Given the description of an element on the screen output the (x, y) to click on. 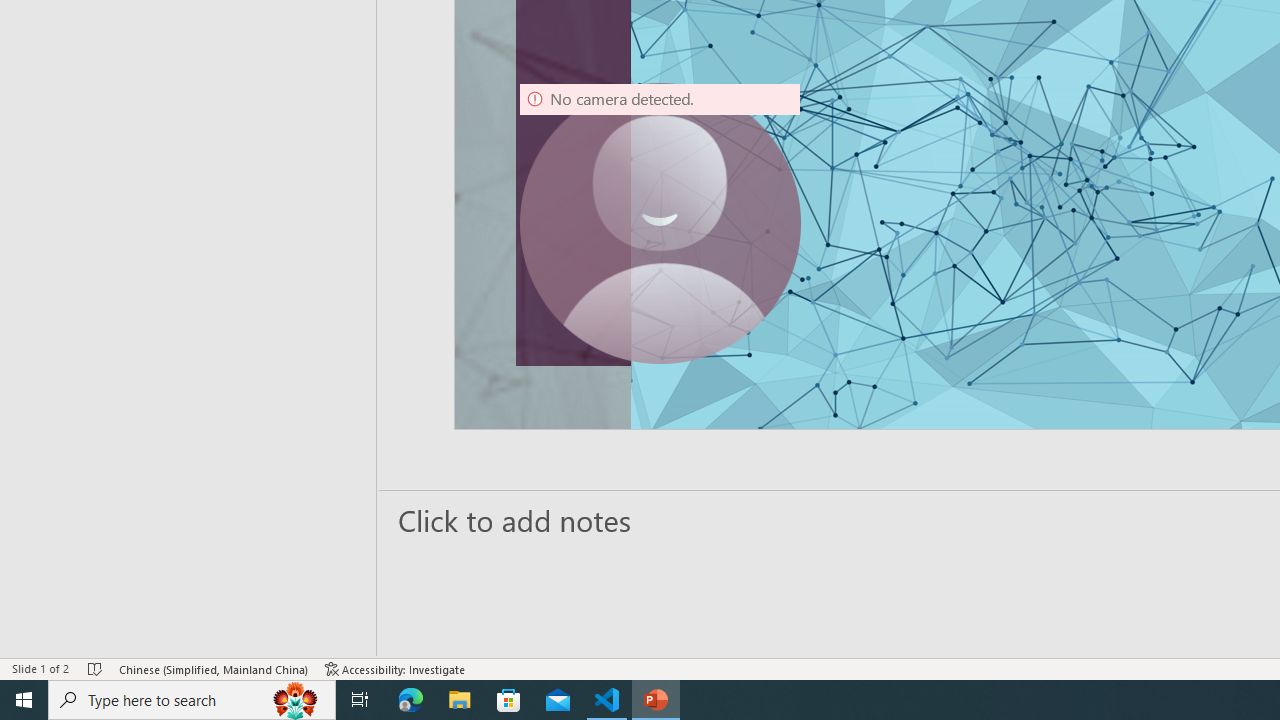
Camera 9, No camera detected. (660, 223)
